Given the description of an element on the screen output the (x, y) to click on. 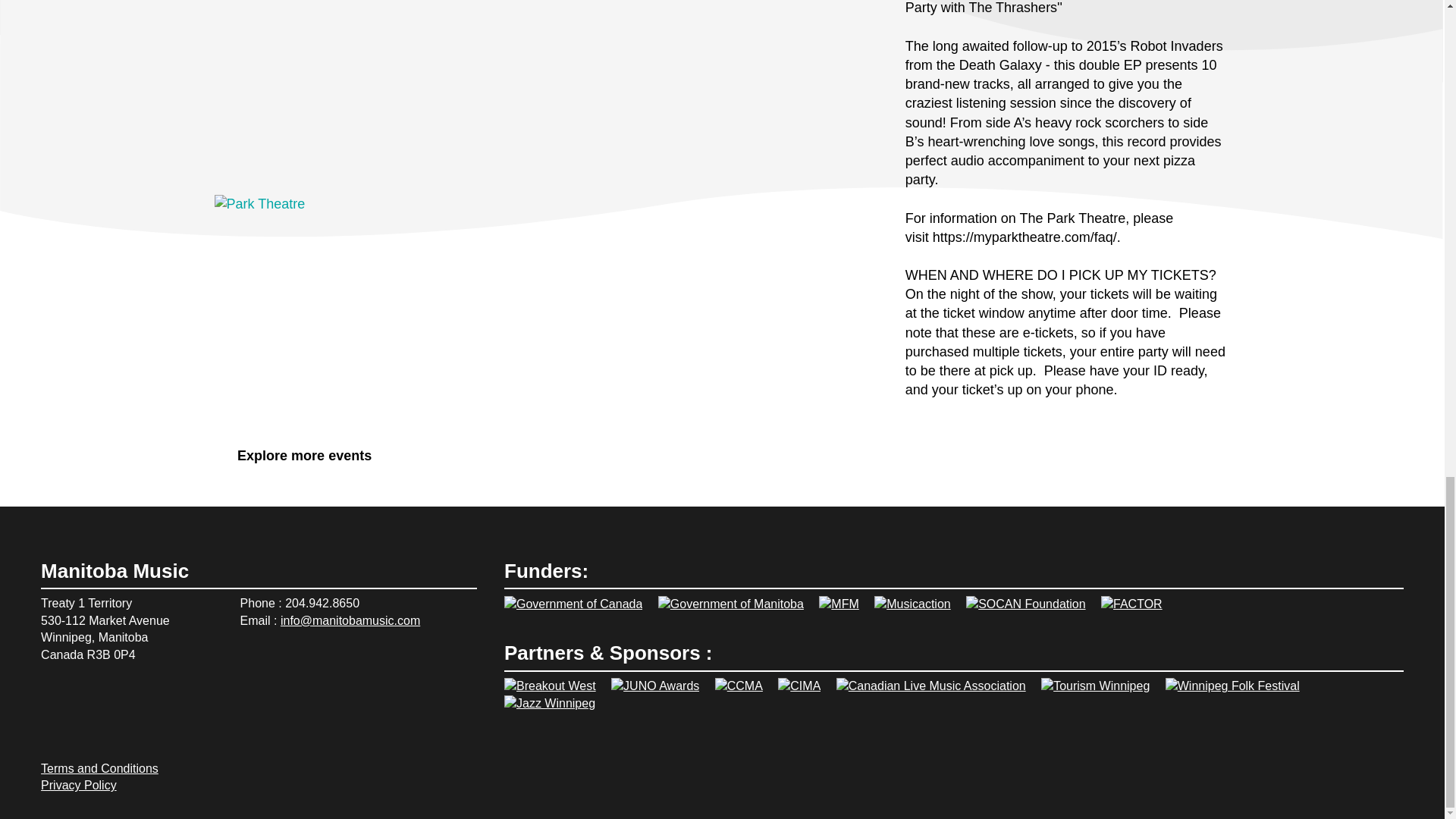
Follow us on Twitter (125, 696)
Like us on Facebook (89, 696)
Follow us on Spotify (52, 696)
Subscribe on YouTube (161, 696)
